Given the description of an element on the screen output the (x, y) to click on. 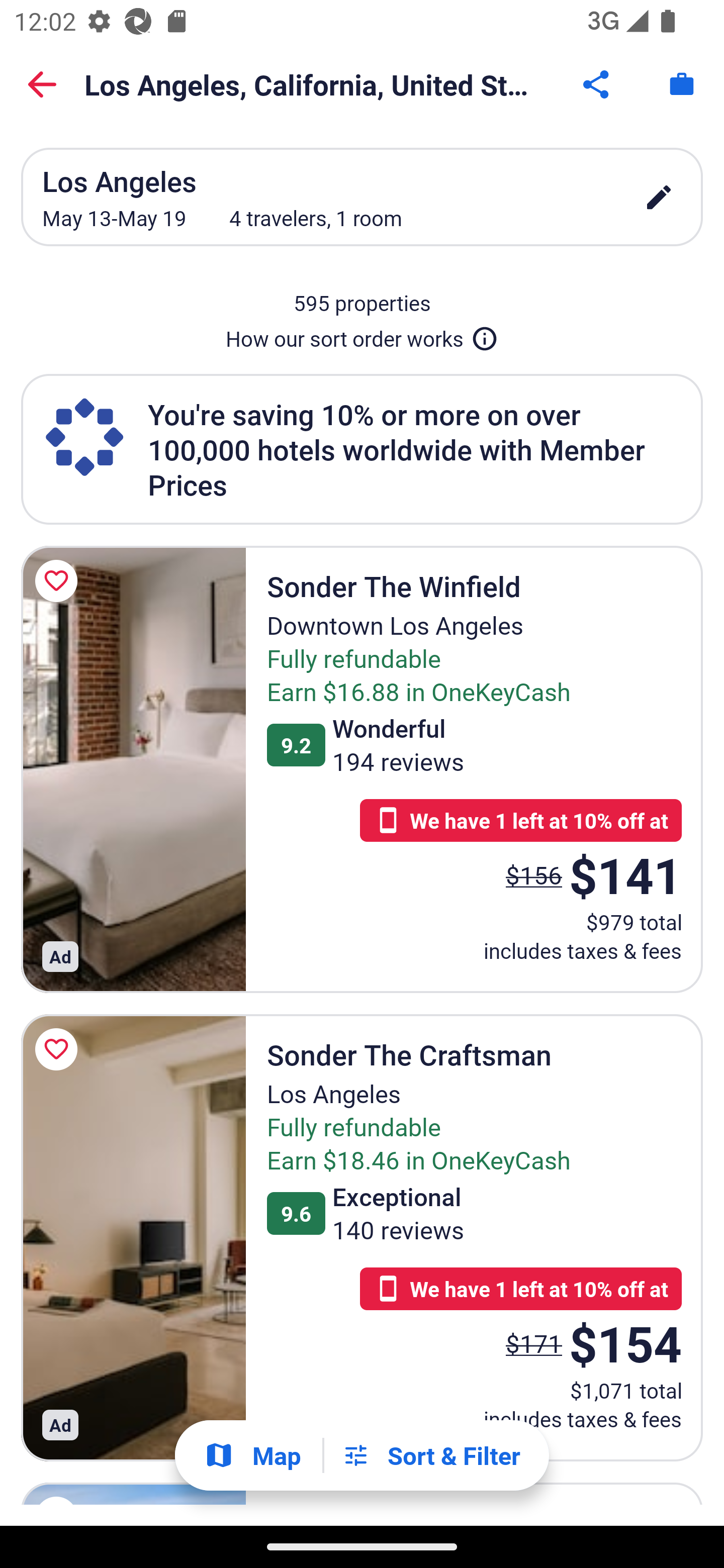
Back (42, 84)
Share Button (597, 84)
Trips. Button (681, 84)
Los Angeles May 13-May 19 4 travelers, 1 room edit (361, 196)
How our sort order works (361, 334)
Save Sonder The Winfield to a trip (59, 580)
Sonder The Winfield (133, 768)
$156 The price was $156 (533, 874)
Save Sonder The Craftsman to a trip (59, 1048)
Sonder The Craftsman (133, 1237)
$171 The price was $171 (533, 1343)
Filters Sort & Filter Filters Button (430, 1455)
Show map Map Show map Button (252, 1455)
